Given the description of an element on the screen output the (x, y) to click on. 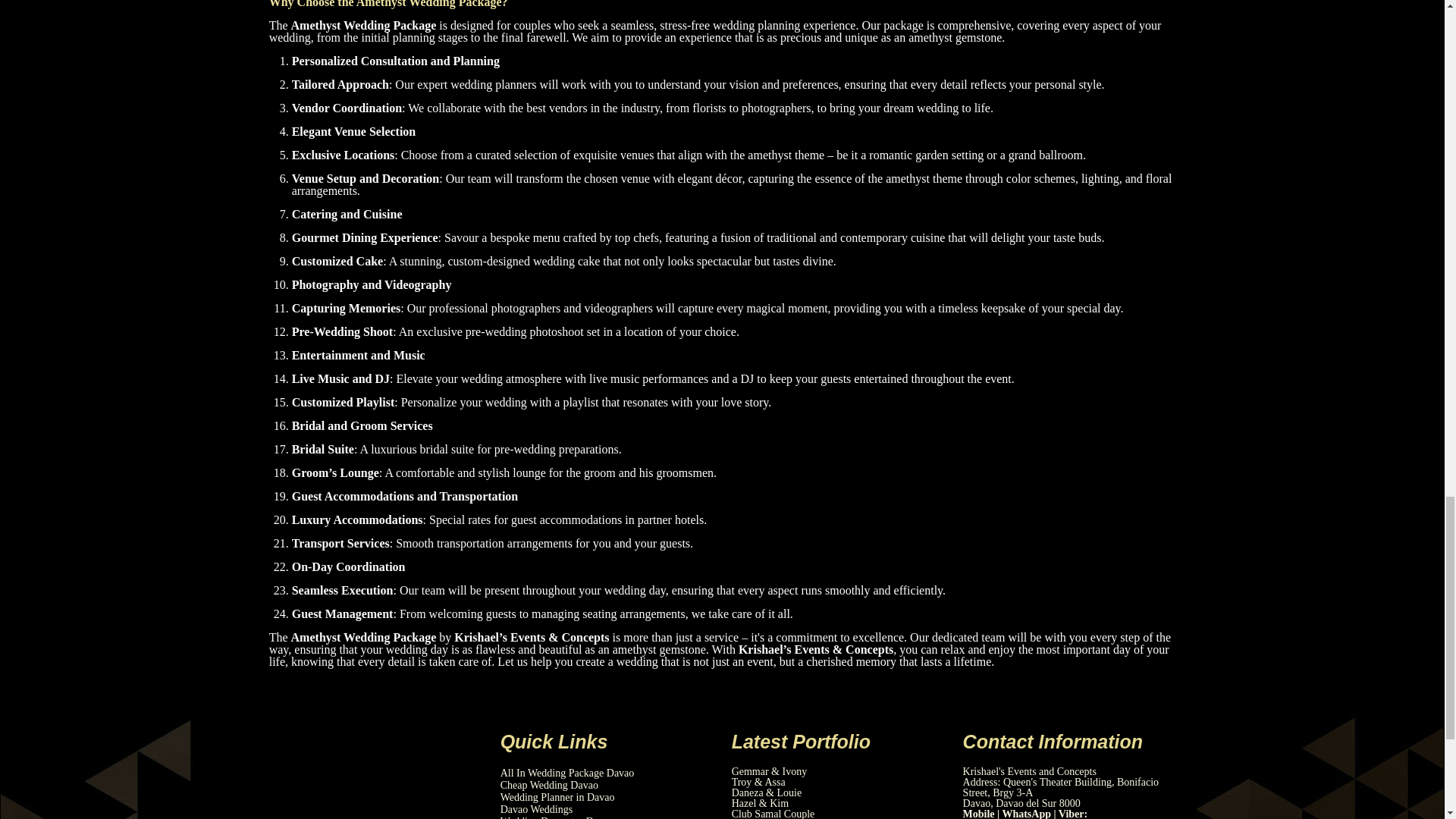
Club Samal Couple (773, 813)
